Given the description of an element on the screen output the (x, y) to click on. 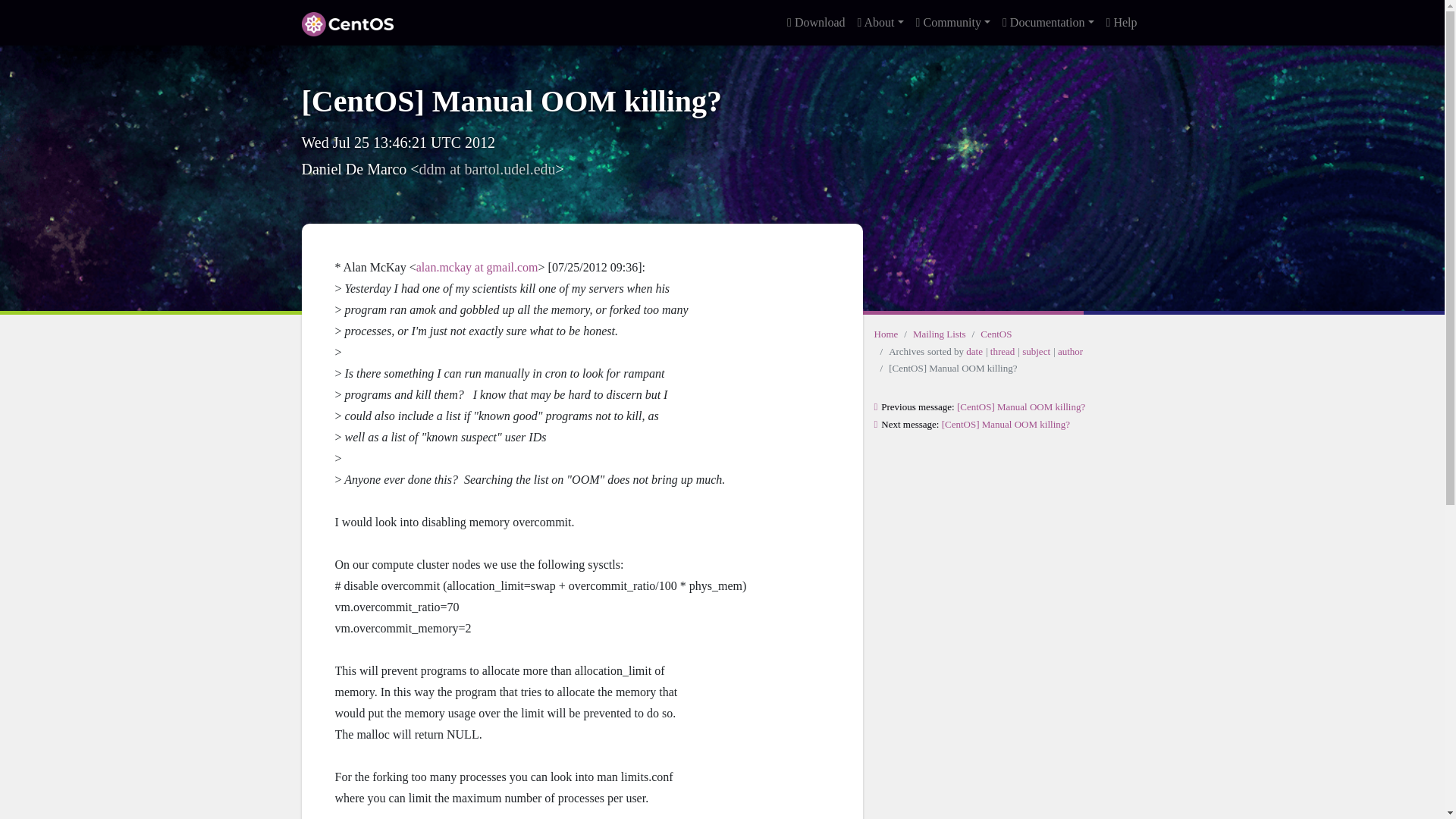
author (1070, 351)
Home (885, 334)
date (974, 351)
CentOS (995, 334)
Help (1121, 22)
ddm at bartol.udel.edu (487, 168)
thread (1002, 351)
Documentation (1047, 22)
About (880, 22)
Download (815, 22)
